Given the description of an element on the screen output the (x, y) to click on. 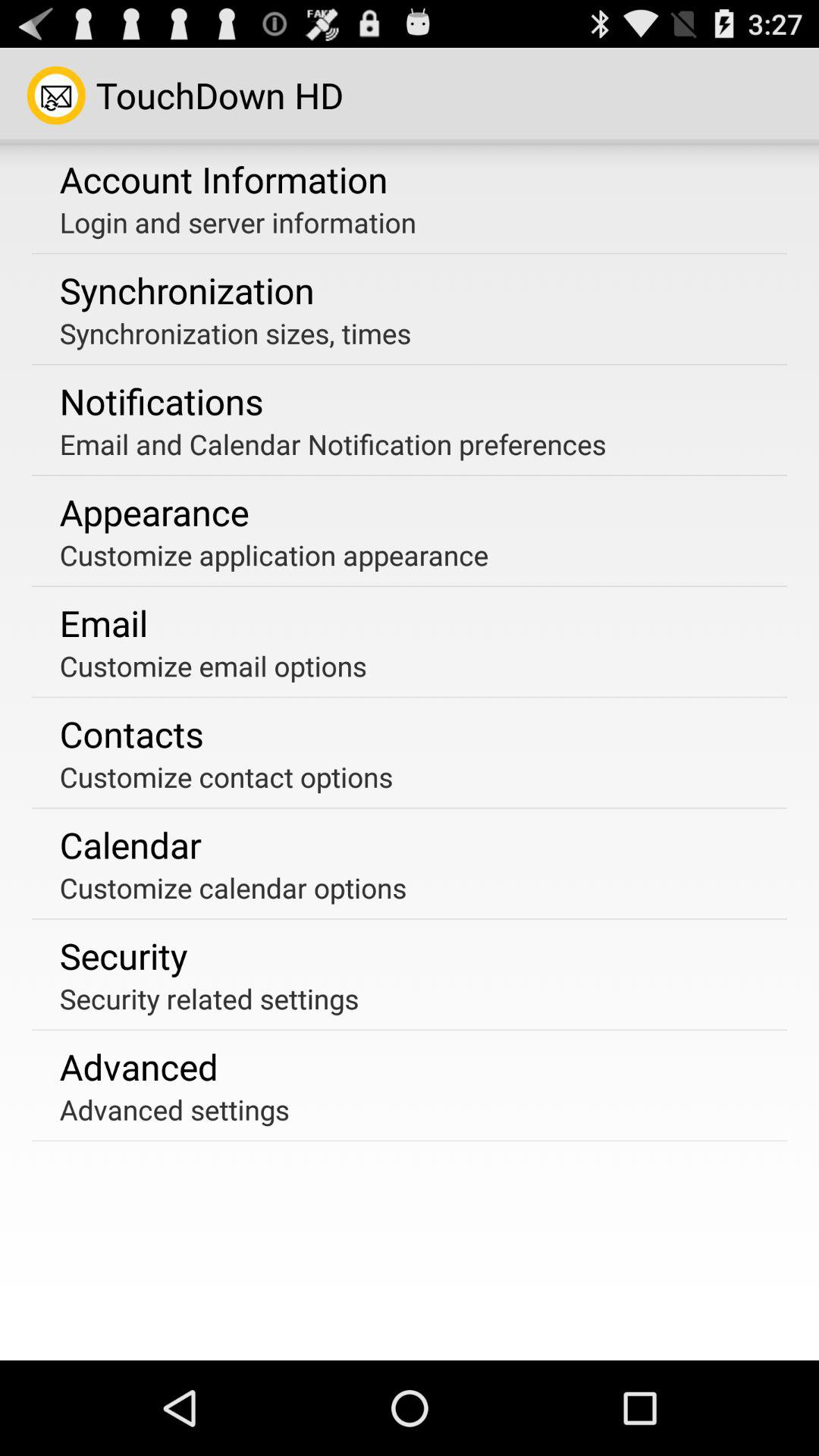
turn off the icon above email and calendar icon (161, 401)
